Given the description of an element on the screen output the (x, y) to click on. 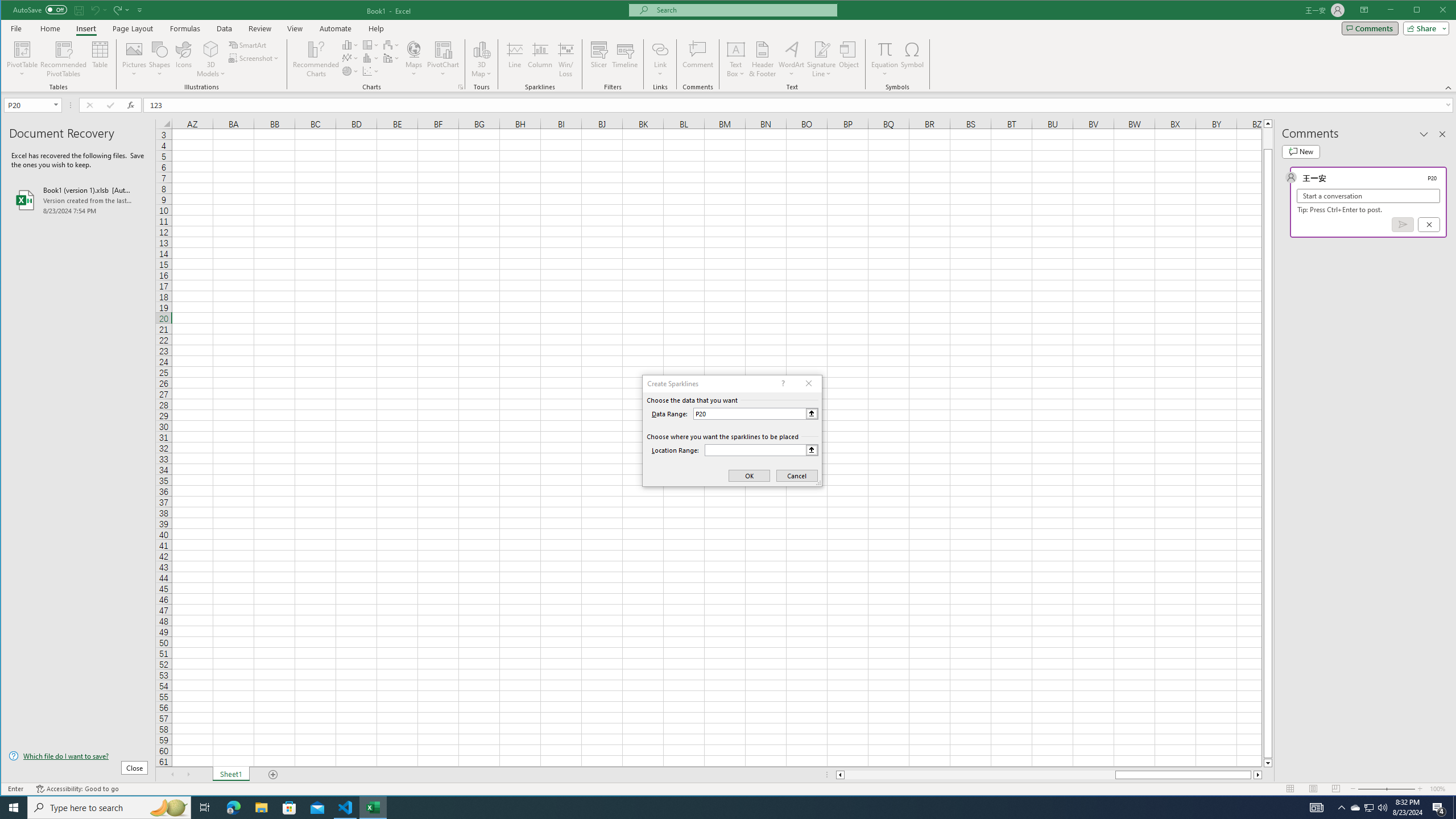
Cancel (1428, 224)
PivotChart (443, 59)
SmartArt... (248, 44)
